Given the description of an element on the screen output the (x, y) to click on. 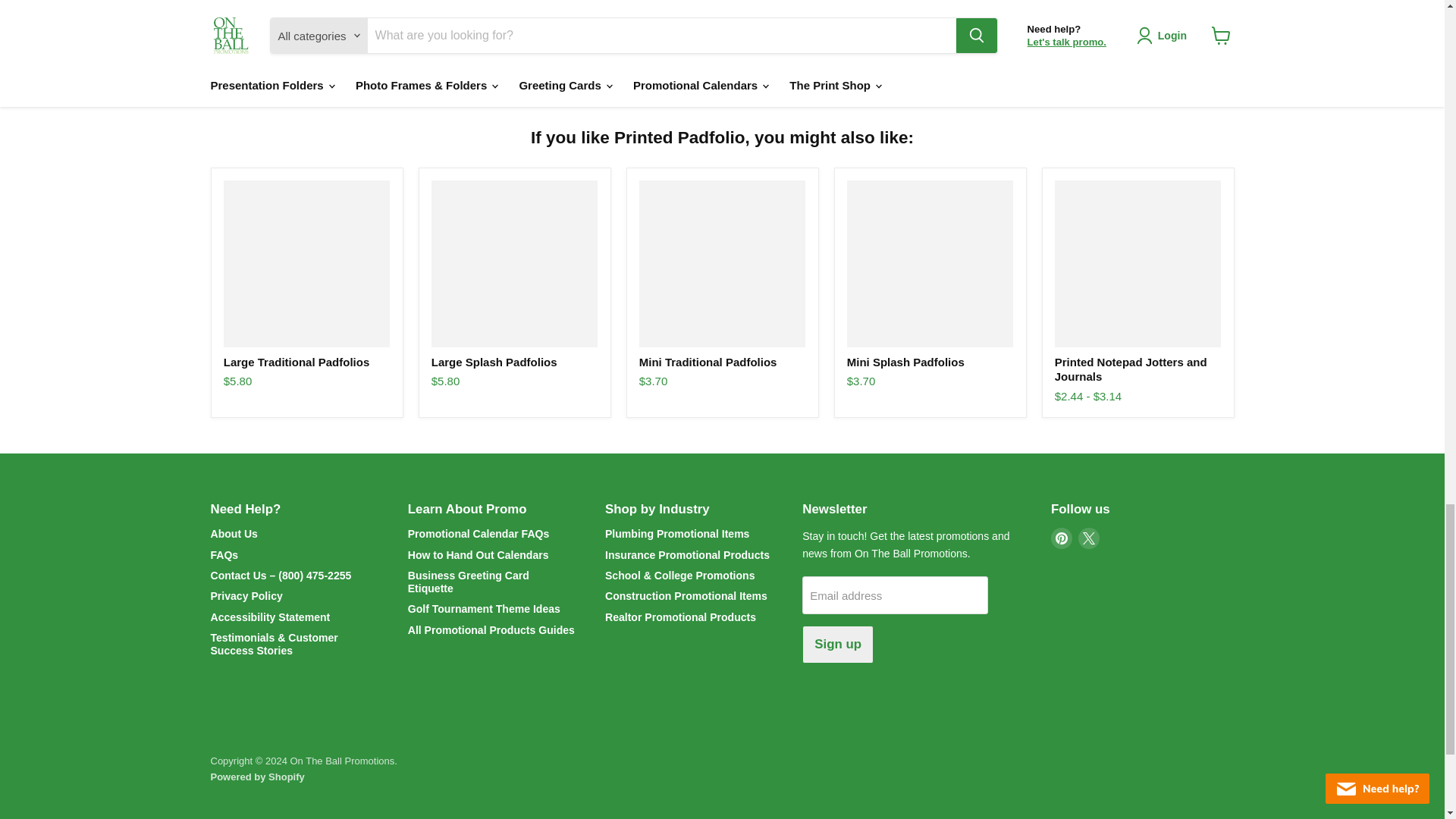
Pinterest (1061, 537)
X (1088, 537)
